Given the description of an element on the screen output the (x, y) to click on. 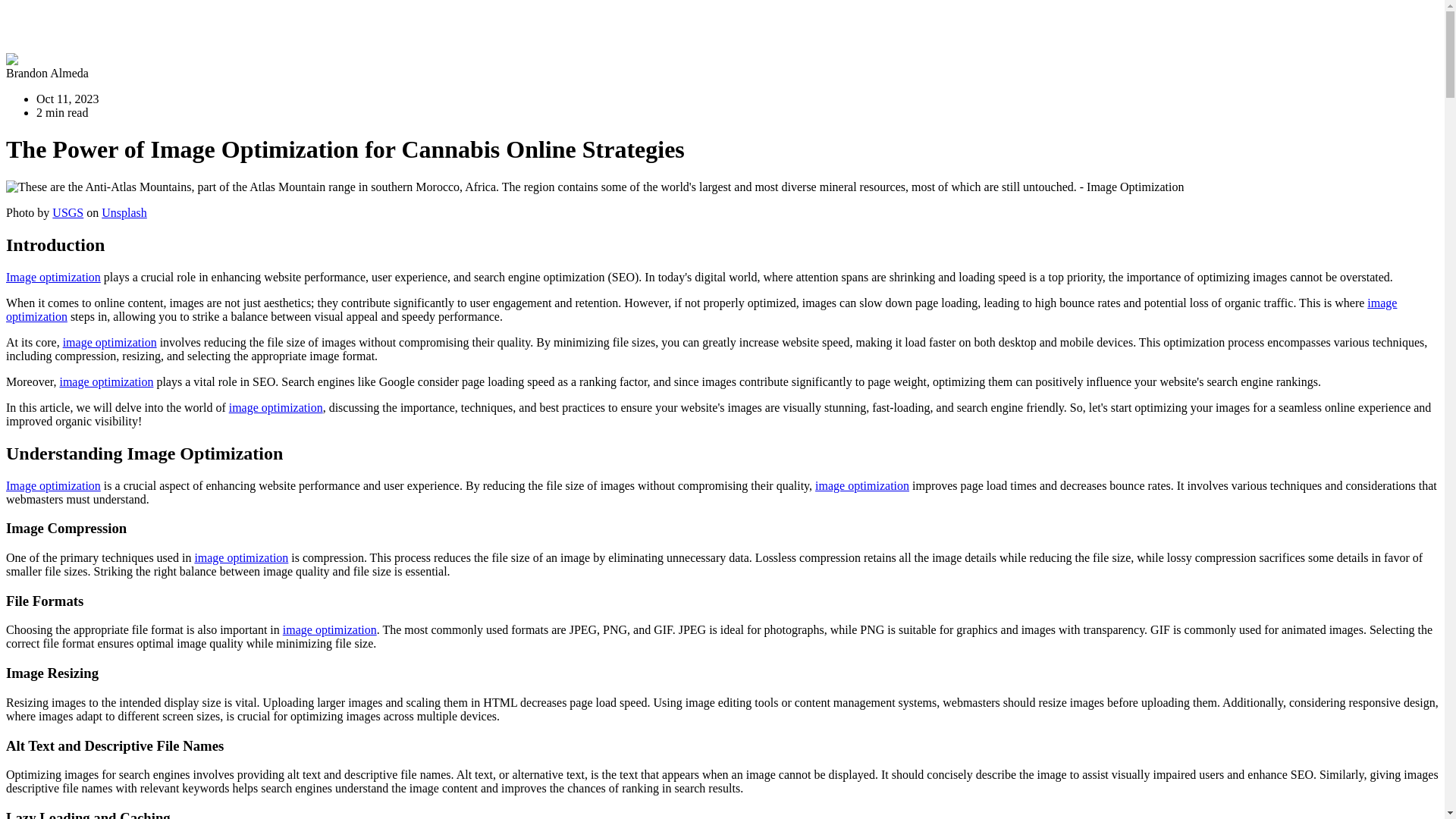
image optimization (700, 309)
Unsplash (124, 212)
image optimization (275, 407)
image optimization (240, 557)
USGS (67, 212)
image optimization (861, 485)
image optimization (109, 341)
image optimization (105, 381)
Image optimization (52, 485)
Image optimization (52, 277)
